Given the description of an element on the screen output the (x, y) to click on. 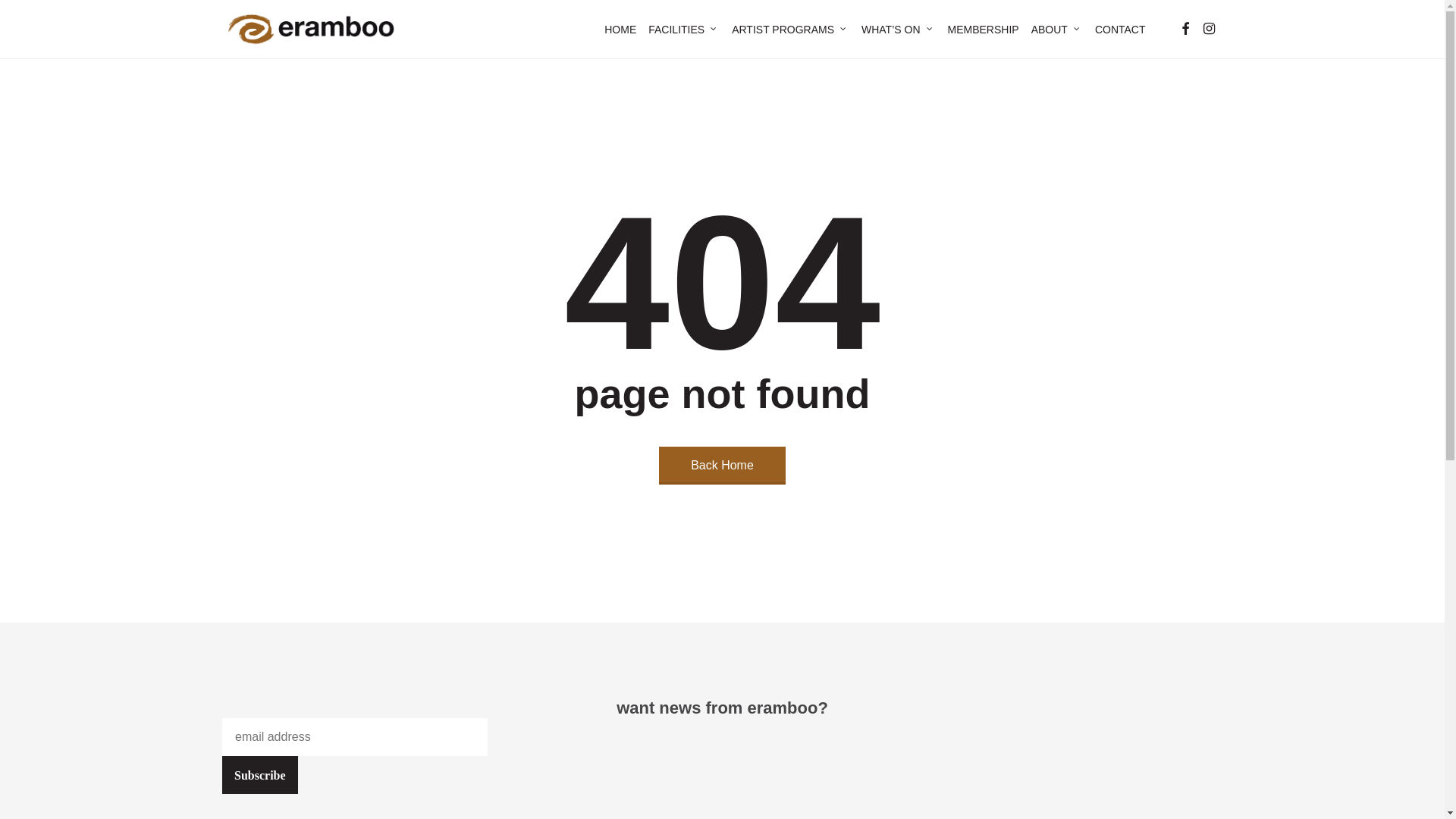
ABOUT Element type: text (1056, 29)
FACILITIES Element type: text (683, 29)
ARTIST PROGRAMS Element type: text (790, 29)
Subscribe Element type: text (260, 774)
INSTAGRAM Element type: text (1208, 28)
CONTACT Element type: text (1120, 29)
HOME Element type: text (620, 29)
MEMBERSHIP Element type: text (983, 29)
FACEBOOK Element type: text (1184, 28)
Back Home Element type: text (721, 465)
